Given the description of an element on the screen output the (x, y) to click on. 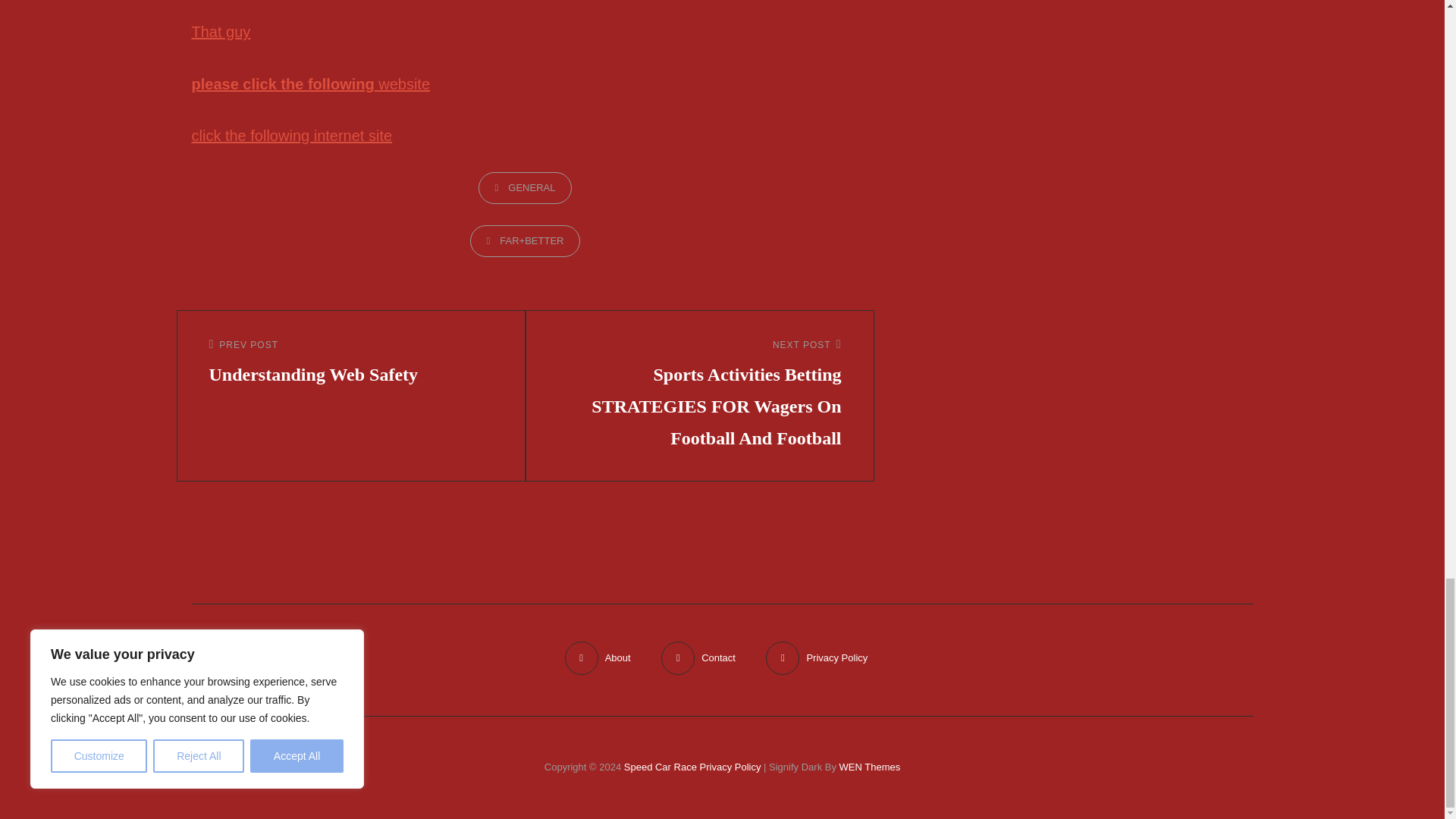
GENERAL (525, 187)
click the following internet site (290, 135)
please click the following website (309, 84)
That guy (220, 31)
